Given the description of an element on the screen output the (x, y) to click on. 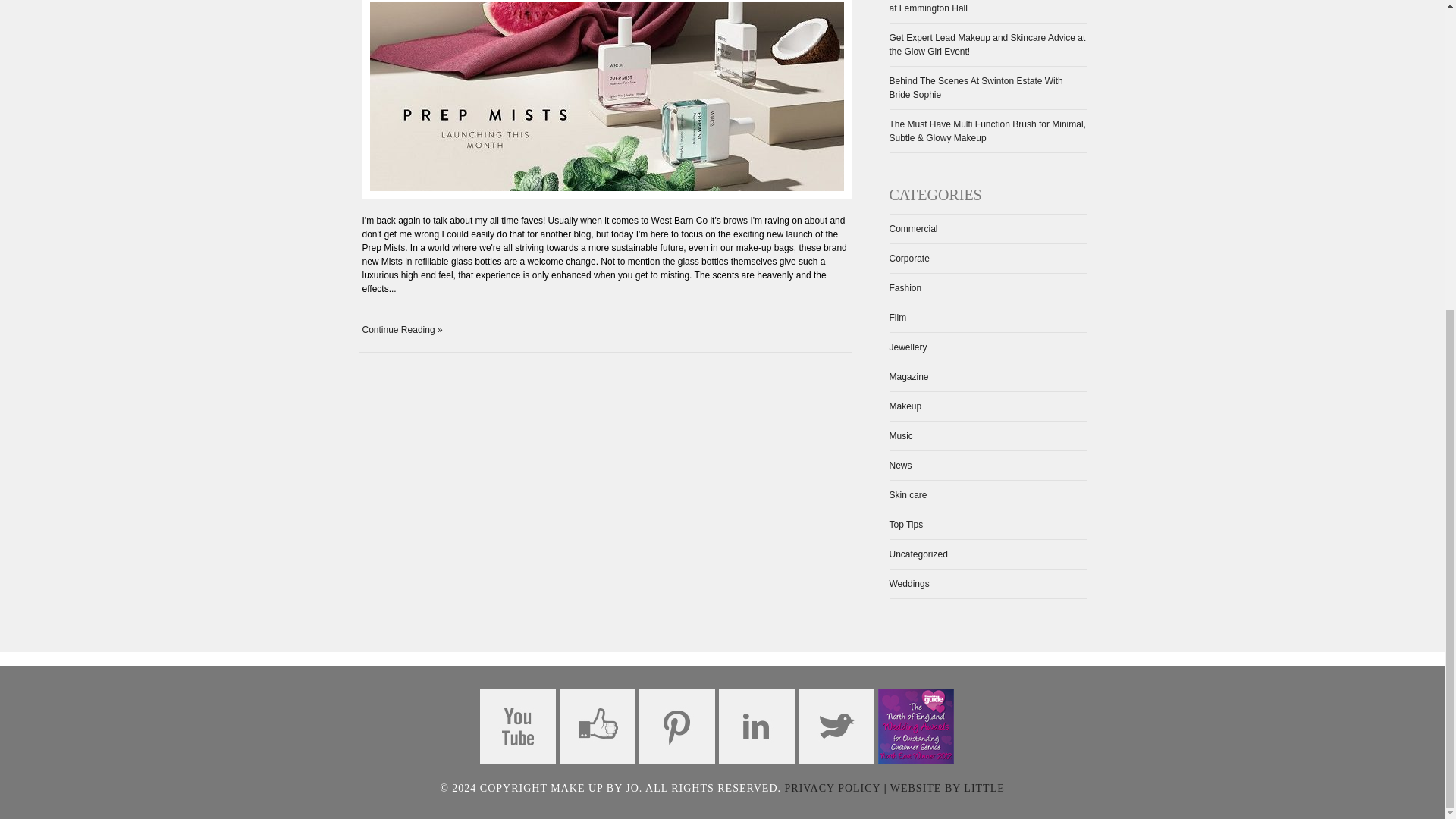
WEBSITE BY LITTLE (946, 787)
Facebook (596, 726)
Uncategorized (917, 553)
FACEBOOK (596, 726)
Music (900, 435)
YouTube (516, 726)
LINKED IN (756, 726)
Corporate (908, 258)
Top Tips (905, 524)
Magazine (908, 376)
Makeup (904, 406)
Skin care (907, 494)
YOUTUBE (516, 726)
Jewellery (907, 347)
